Given the description of an element on the screen output the (x, y) to click on. 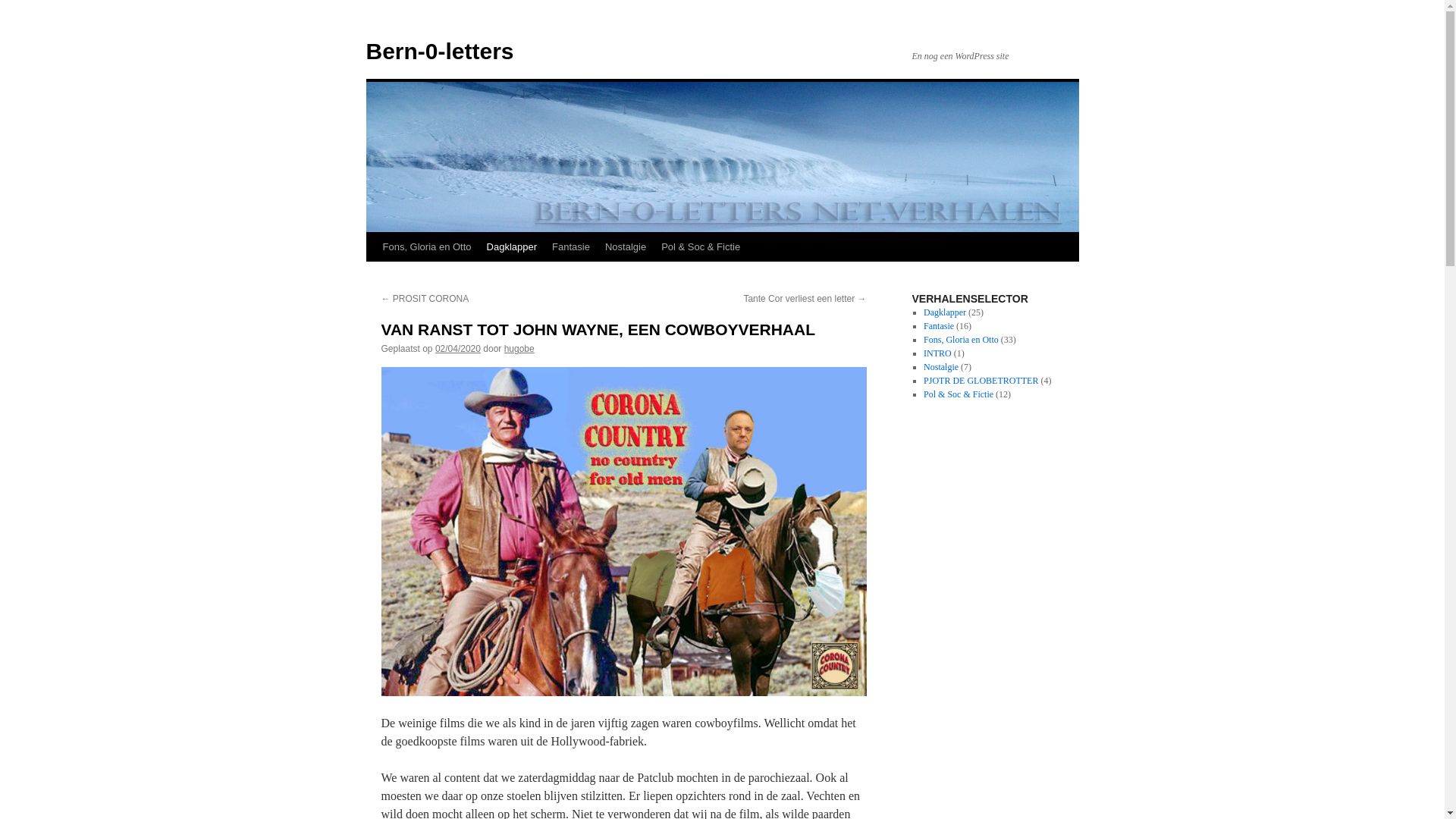
02/04/2020 Element type: text (457, 348)
PJOTR DE GLOBETROTTER Element type: text (980, 380)
Nostalgie Element type: text (940, 366)
Spring naar inhoud Element type: text (372, 275)
Fantasie Element type: text (570, 246)
Dagklapper Element type: text (512, 246)
Nostalgie Element type: text (625, 246)
Fons, Gloria en Otto Element type: text (426, 246)
hugobe Element type: text (519, 348)
Pol & Soc & Fictie Element type: text (700, 246)
Bern-0-letters Element type: text (439, 50)
Fantasie Element type: text (938, 325)
INTRO Element type: text (937, 353)
Pol & Soc & Fictie Element type: text (958, 394)
Fons, Gloria en Otto Element type: text (960, 339)
Dagklapper Element type: text (944, 312)
